Given the description of an element on the screen output the (x, y) to click on. 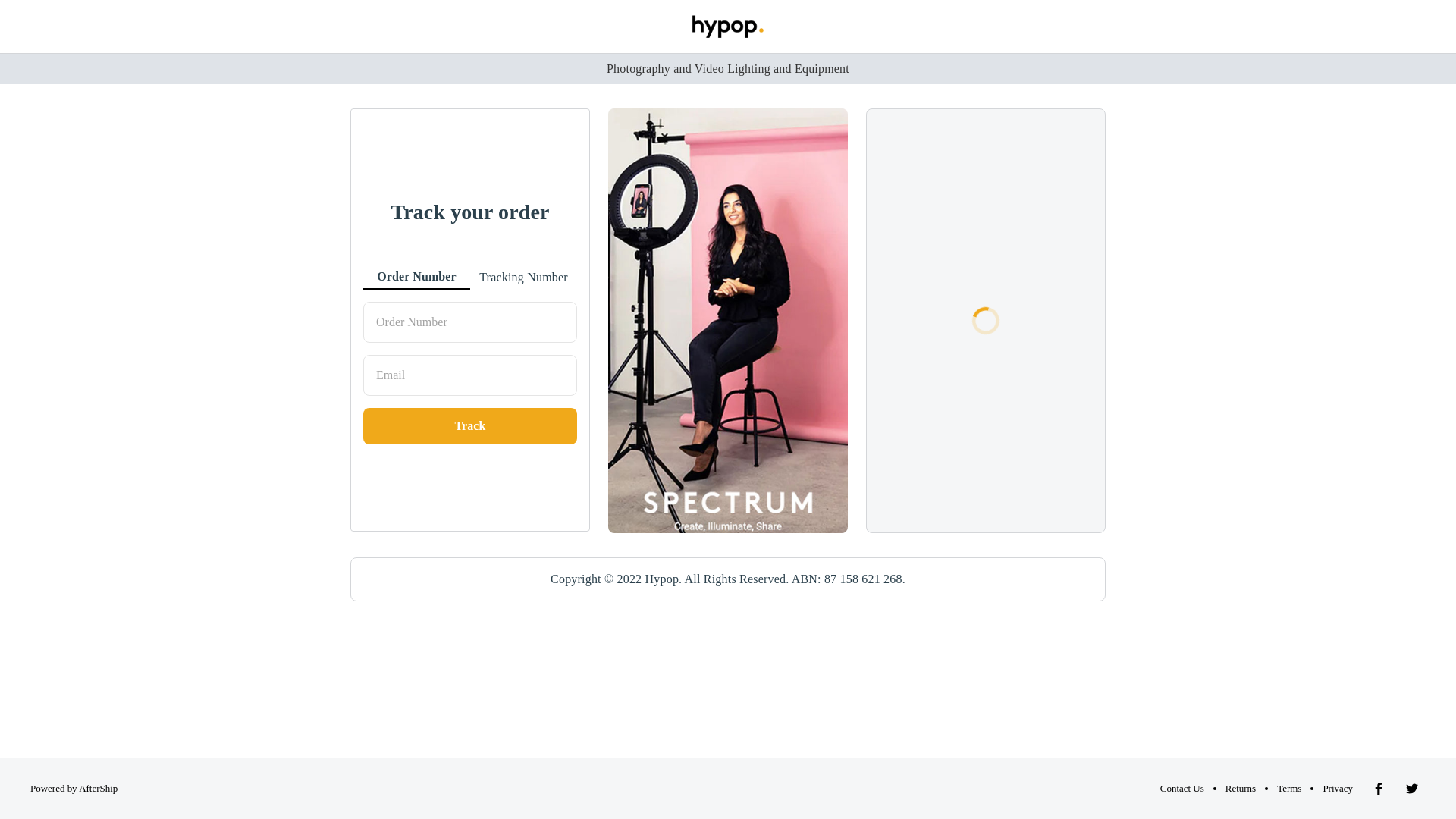
Powered by AfterShip Element type: text (73, 788)
Contact Us Element type: text (1182, 788)
Returns Element type: text (1240, 788)
Privacy Element type: text (1337, 788)
Terms Element type: text (1289, 788)
